Given the description of an element on the screen output the (x, y) to click on. 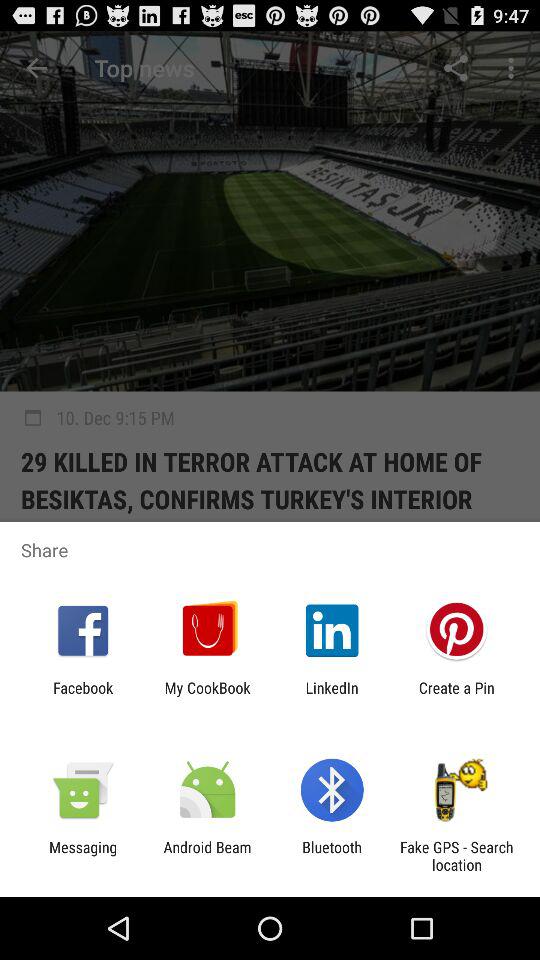
select icon next to the facebook (207, 696)
